Given the description of an element on the screen output the (x, y) to click on. 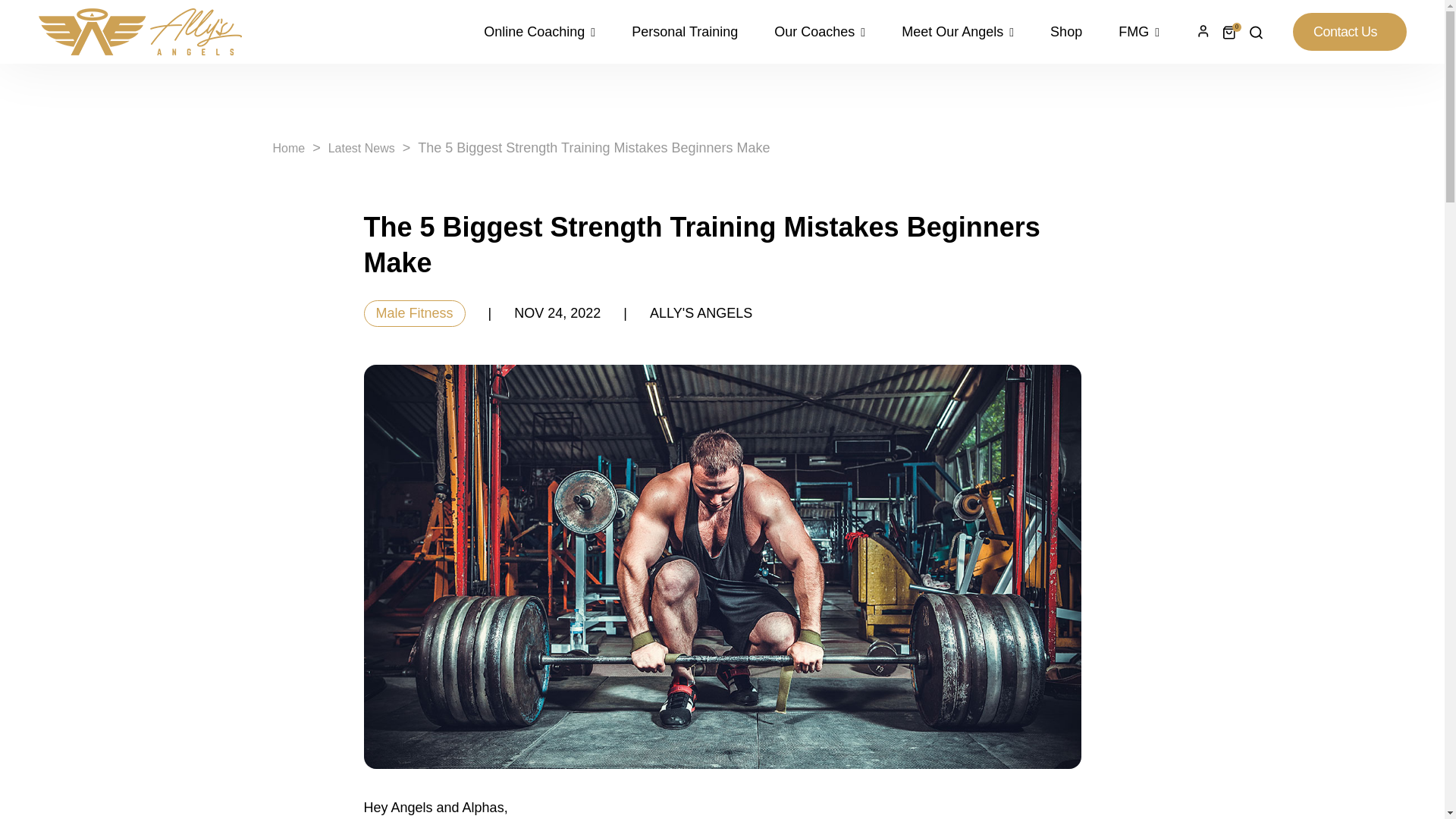
Home (289, 147)
Shop (1066, 31)
FMG (1129, 31)
Our Coaches (819, 31)
Online Coaching (547, 31)
Latest News (361, 147)
Contact Us (1349, 31)
Personal Training (683, 31)
Meet Our Angels (957, 31)
